Given the description of an element on the screen output the (x, y) to click on. 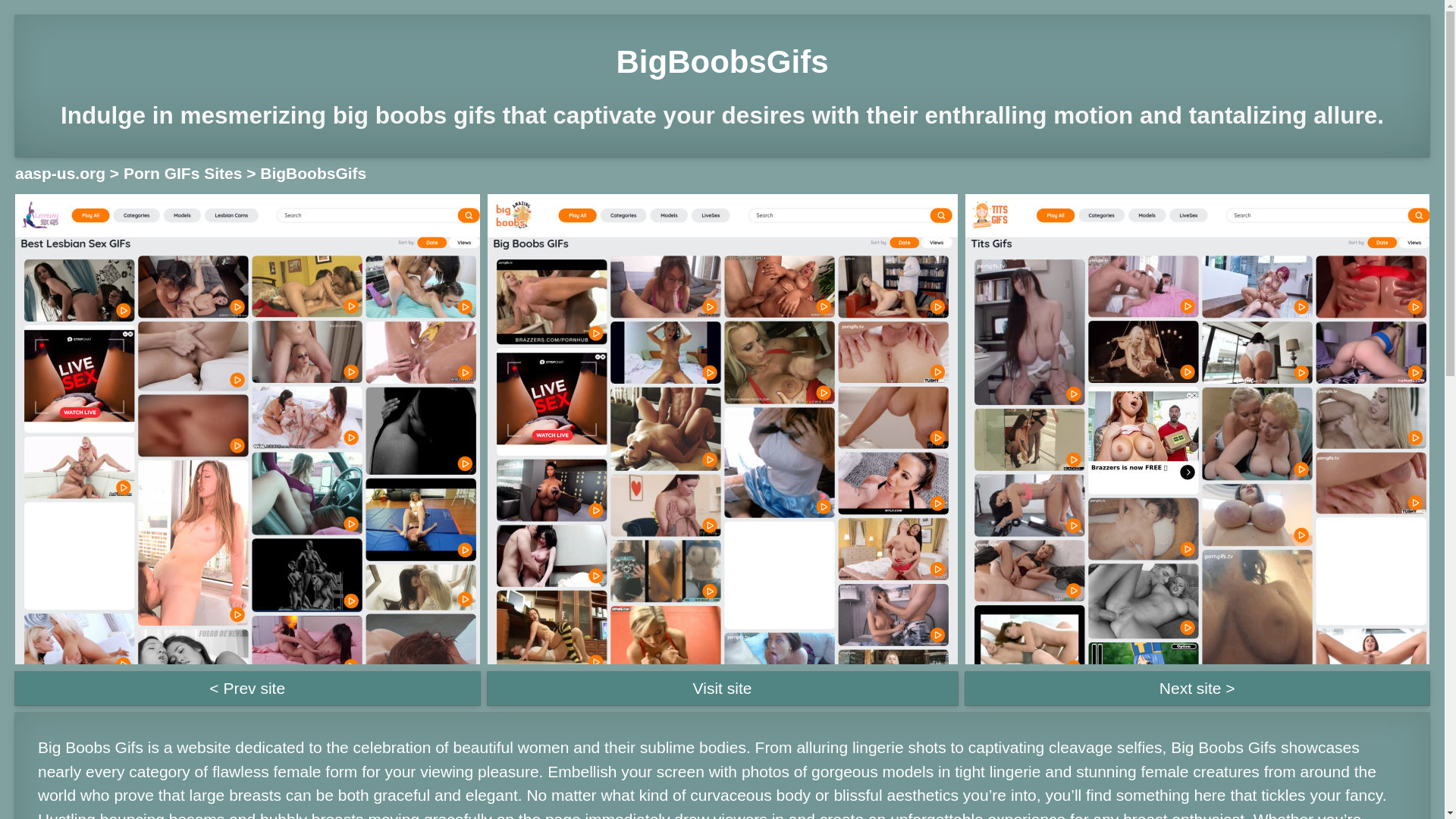
Porn GIFs Sites (182, 172)
BigBoobsGifs (313, 172)
Visit site (721, 688)
aasp-us.org (59, 172)
